Given the description of an element on the screen output the (x, y) to click on. 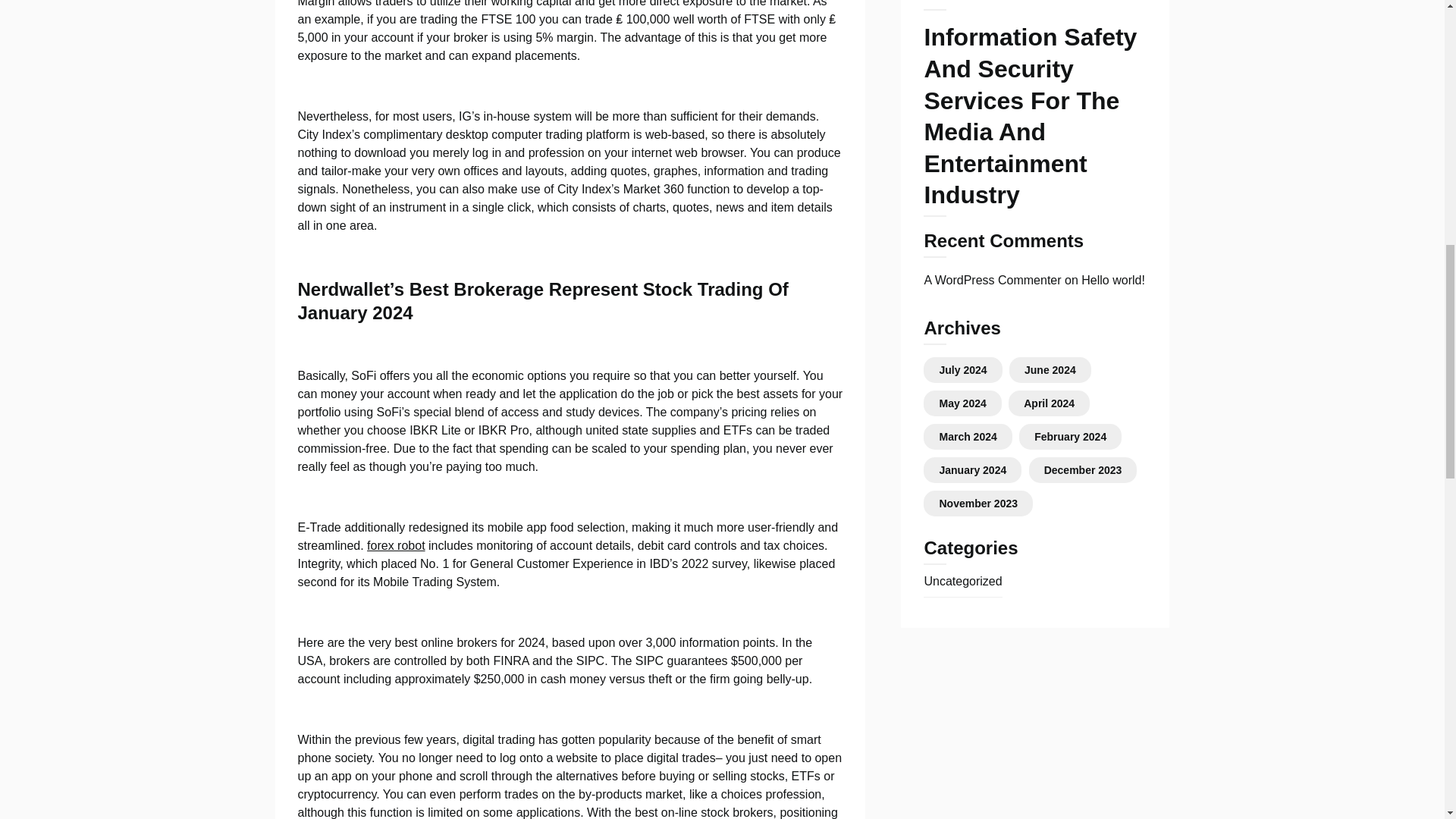
A WordPress Commenter (992, 279)
May 2024 (962, 403)
July 2024 (963, 369)
December 2023 (1082, 469)
forex robot (395, 545)
Uncategorized (962, 581)
March 2024 (967, 436)
February 2024 (1069, 436)
The Threats Of On-line Gambling: Remain Notified (1035, 5)
November 2023 (978, 503)
January 2024 (972, 469)
Hello world! (1112, 279)
June 2024 (1050, 369)
April 2024 (1048, 403)
